Given the description of an element on the screen output the (x, y) to click on. 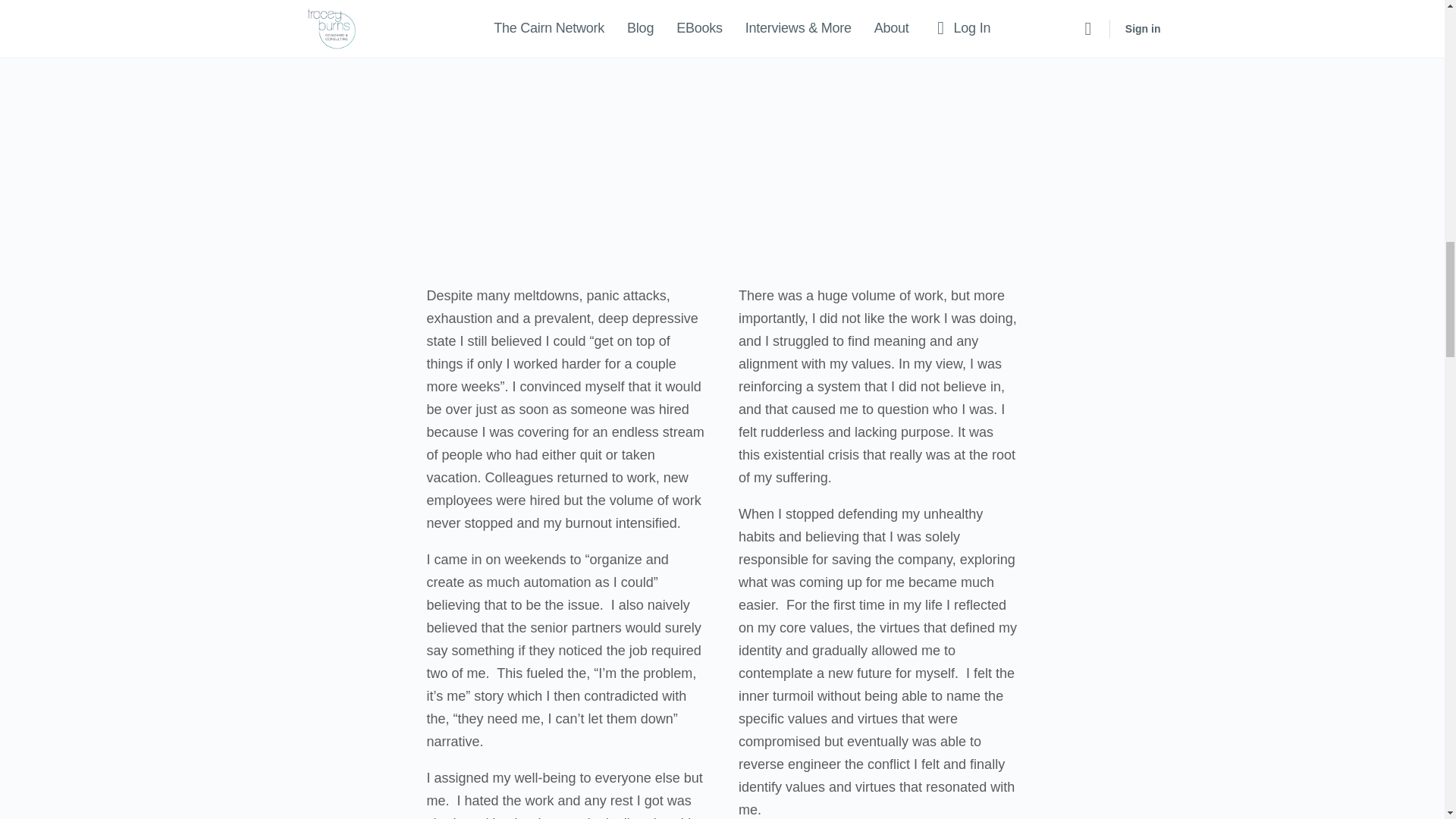
Burnout 2 (721, 41)
